Given the description of an element on the screen output the (x, y) to click on. 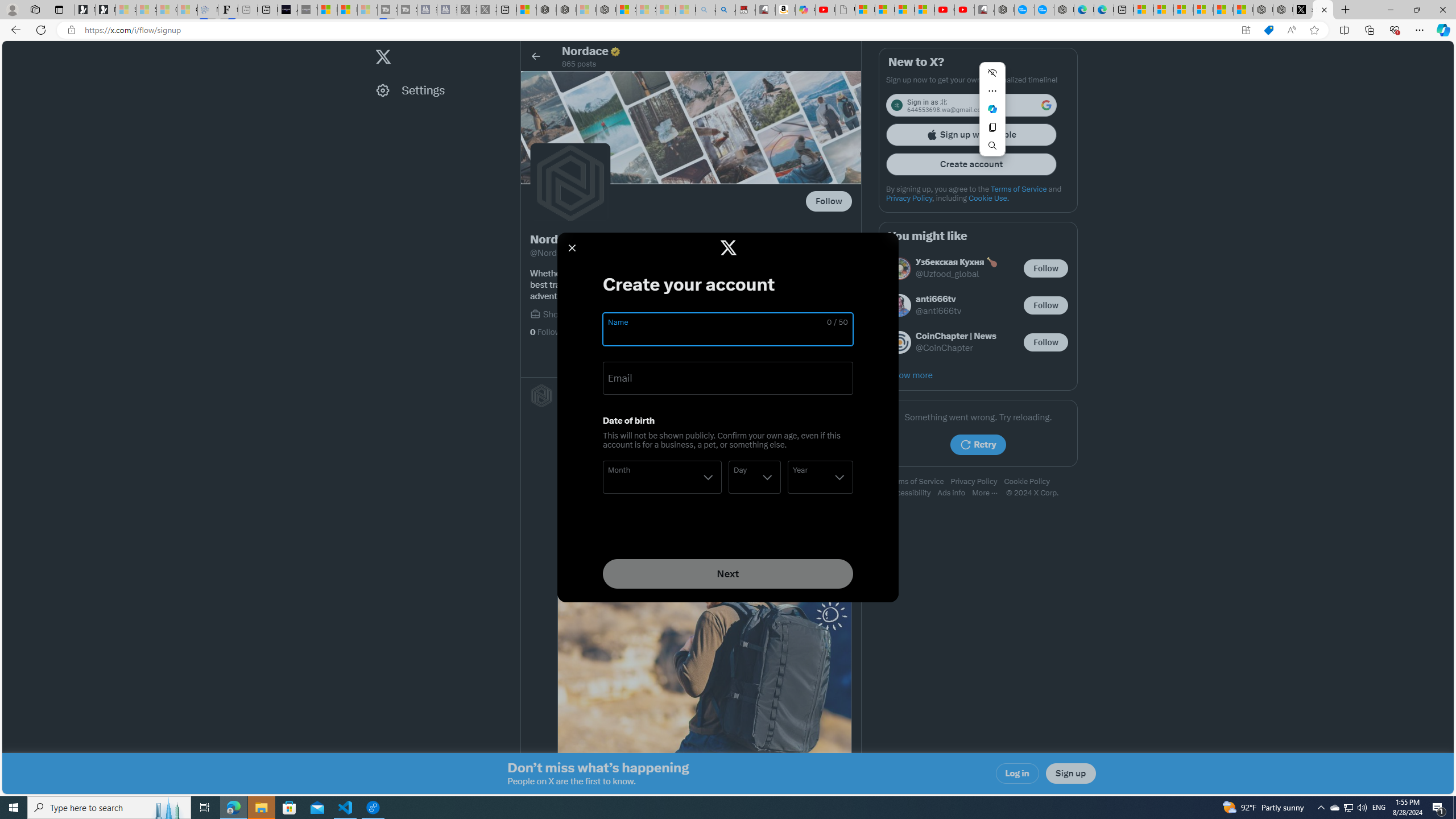
Sign up for X / X (1322, 9)
App available. Install X (1245, 29)
x.com/NordaceOfficial (1302, 9)
Hide menu (991, 72)
